Given the description of an element on the screen output the (x, y) to click on. 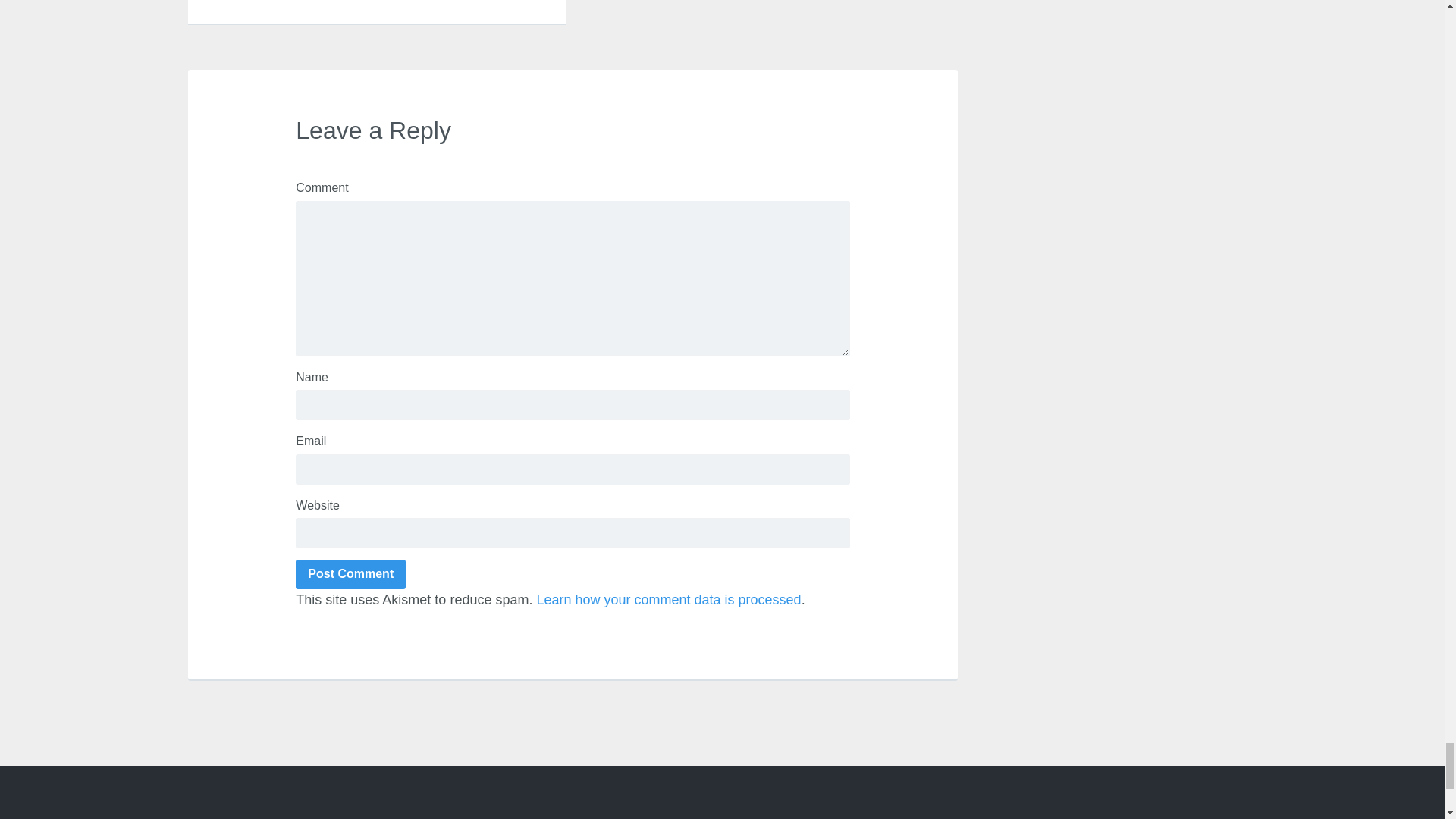
Post Comment (350, 574)
